Given the description of an element on the screen output the (x, y) to click on. 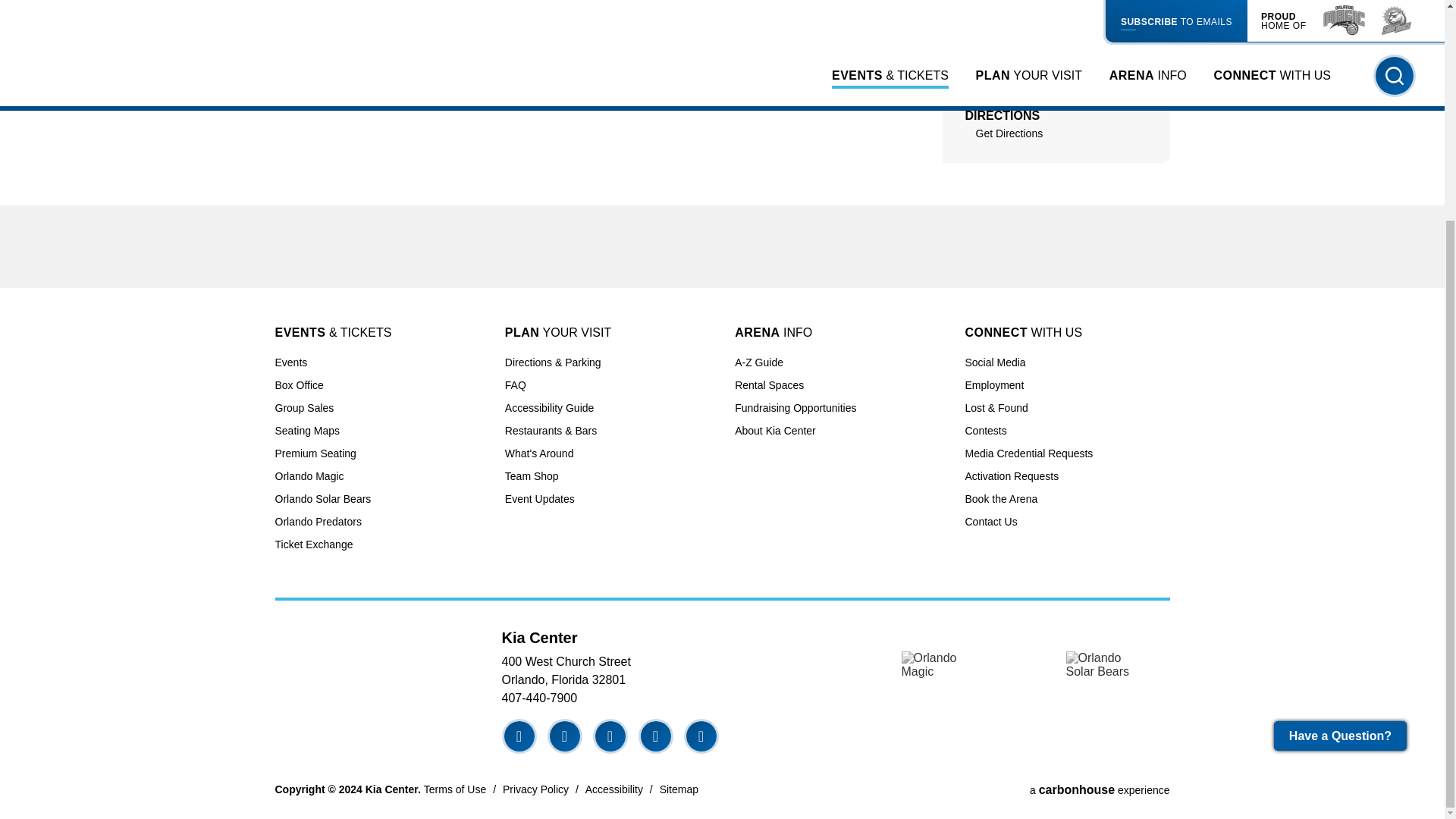
Pinterest (701, 736)
Instagram (609, 736)
Kia Center (369, 672)
Twitter (564, 736)
Facebook (519, 736)
Youtube (655, 736)
a carbonhouse experience (1099, 789)
